Given the description of an element on the screen output the (x, y) to click on. 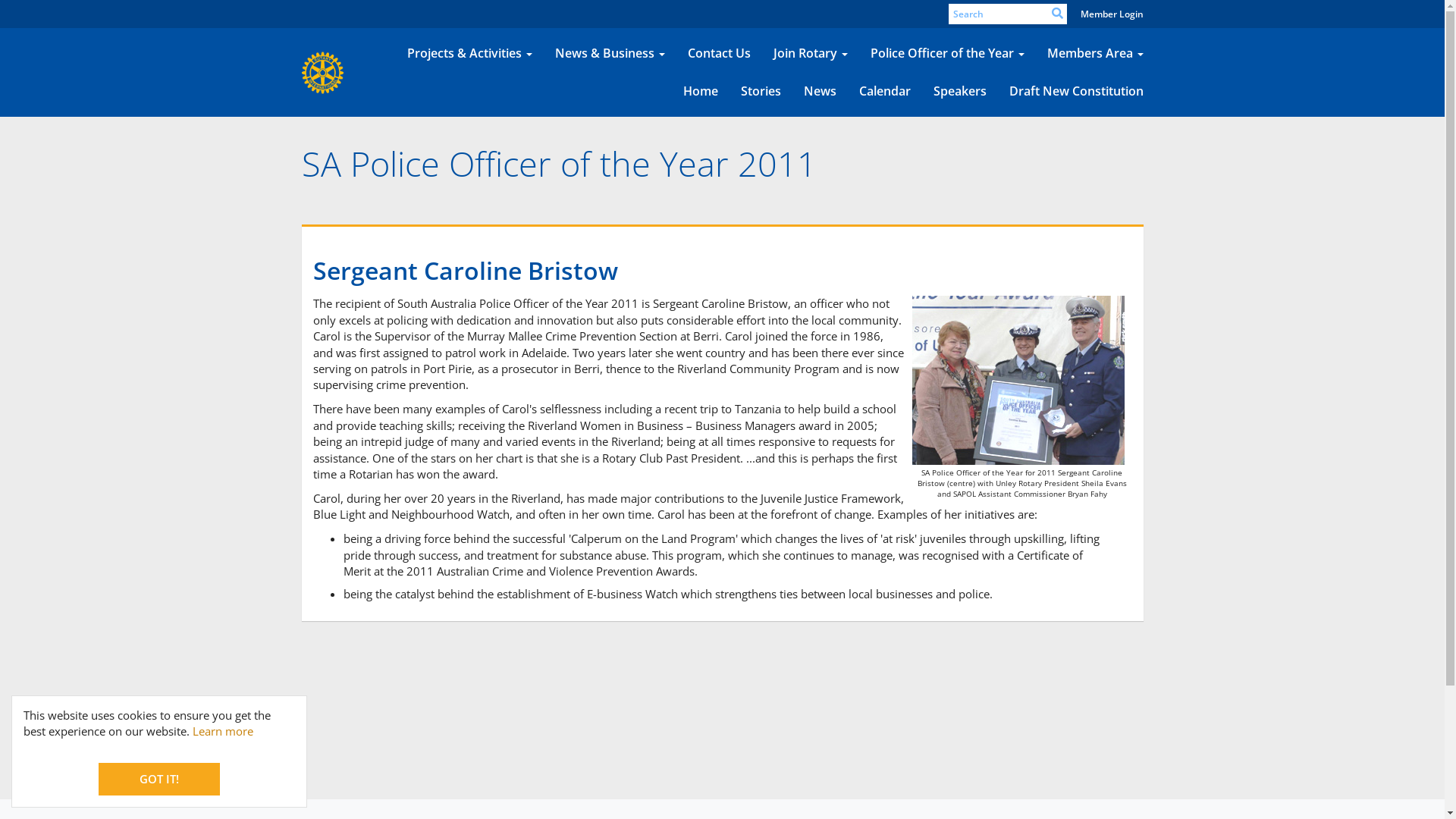
Police Officer of the Year Element type: text (946, 53)
Contact Us Element type: text (719, 53)
Stories Element type: text (760, 91)
Calendar Element type: text (884, 91)
Member Login Element type: text (1110, 13)
Members Area Element type: text (1094, 53)
Home Element type: text (700, 91)
GOT IT! Element type: text (158, 778)
News Element type: text (819, 91)
Speakers Element type: text (959, 91)
Join Rotary Element type: text (809, 53)
Projects & Activities Element type: text (469, 53)
Draft New Constitution Element type: text (1075, 91)
Learn more Element type: text (222, 730)
News & Business Element type: text (608, 53)
